Given the description of an element on the screen output the (x, y) to click on. 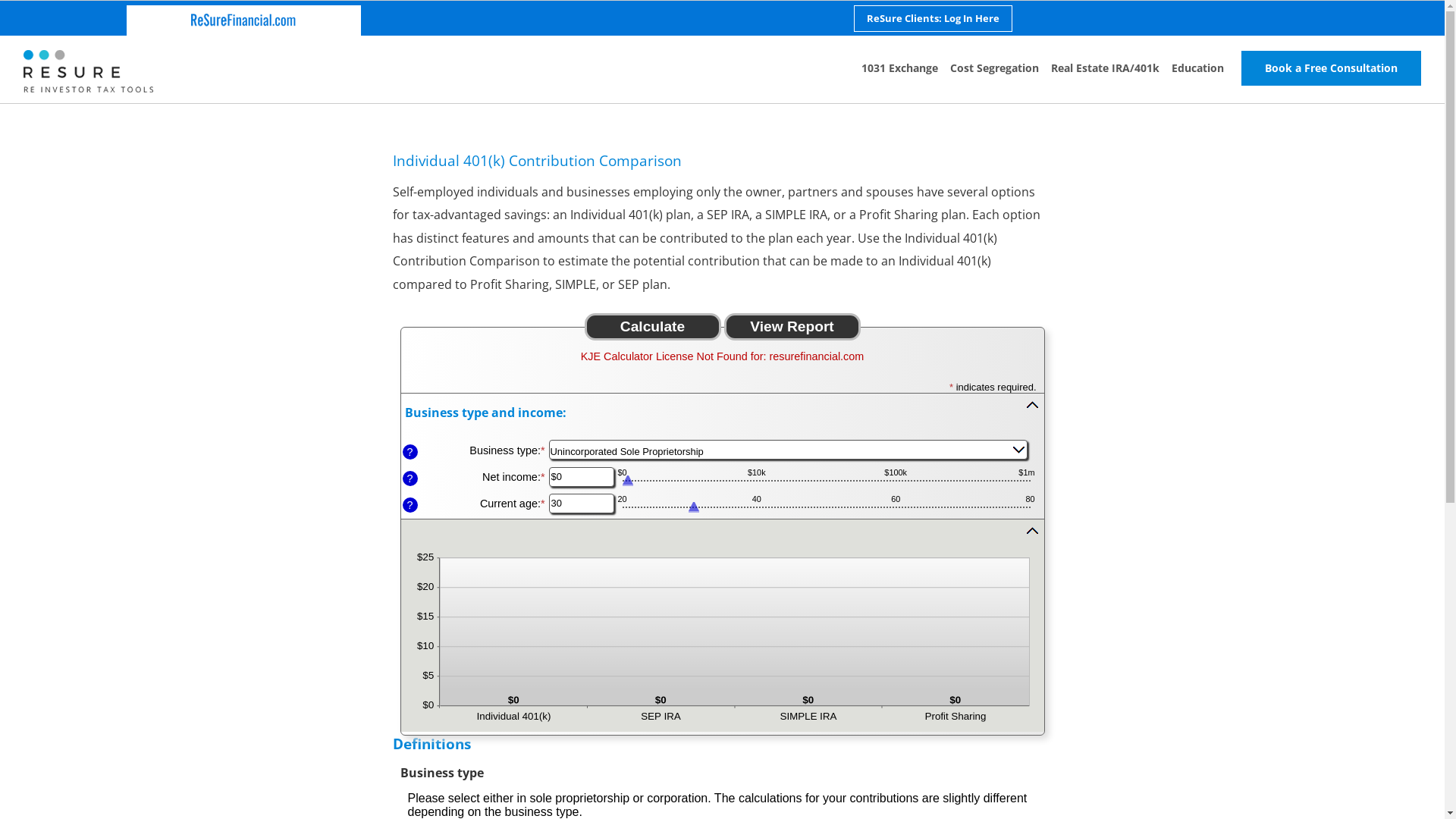
ReSure Clients: Log In Here Element type: text (932, 18)
Book a Free Consultation Element type: text (1331, 67)
Net income slider Element type: hover (825, 482)
Real Estate IRA/401k Element type: text (1104, 67)
? Element type: text (409, 504)
? Element type: text (409, 451)
? Element type: text (409, 478)
1031 Exchange Element type: text (899, 67)
Current age slider Element type: hover (825, 508)
Education Element type: text (1197, 67)
Cost Segregation Element type: text (994, 67)
